Given the description of an element on the screen output the (x, y) to click on. 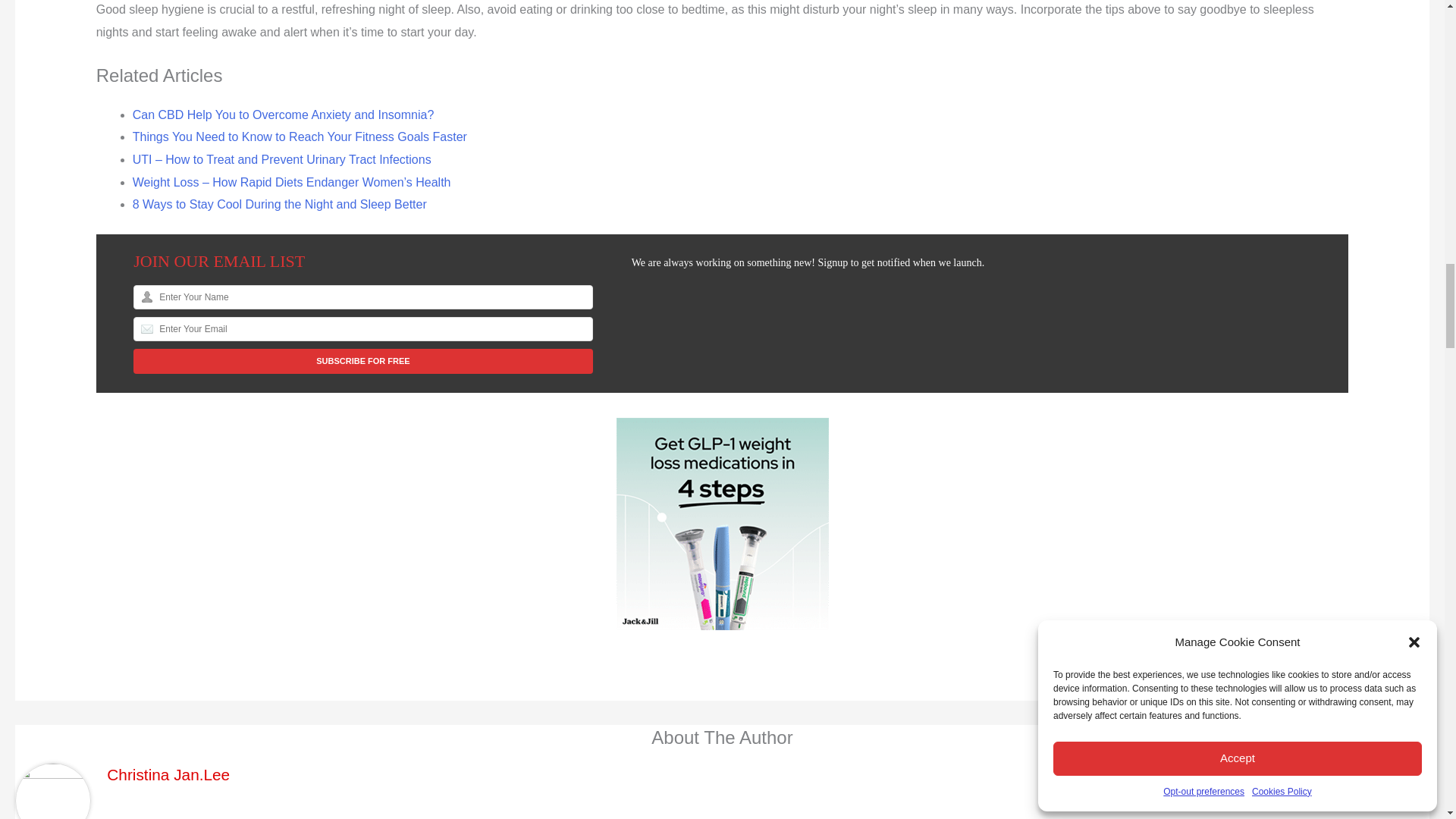
SUBSCRIBE FOR FREE (362, 360)
